Given the description of an element on the screen output the (x, y) to click on. 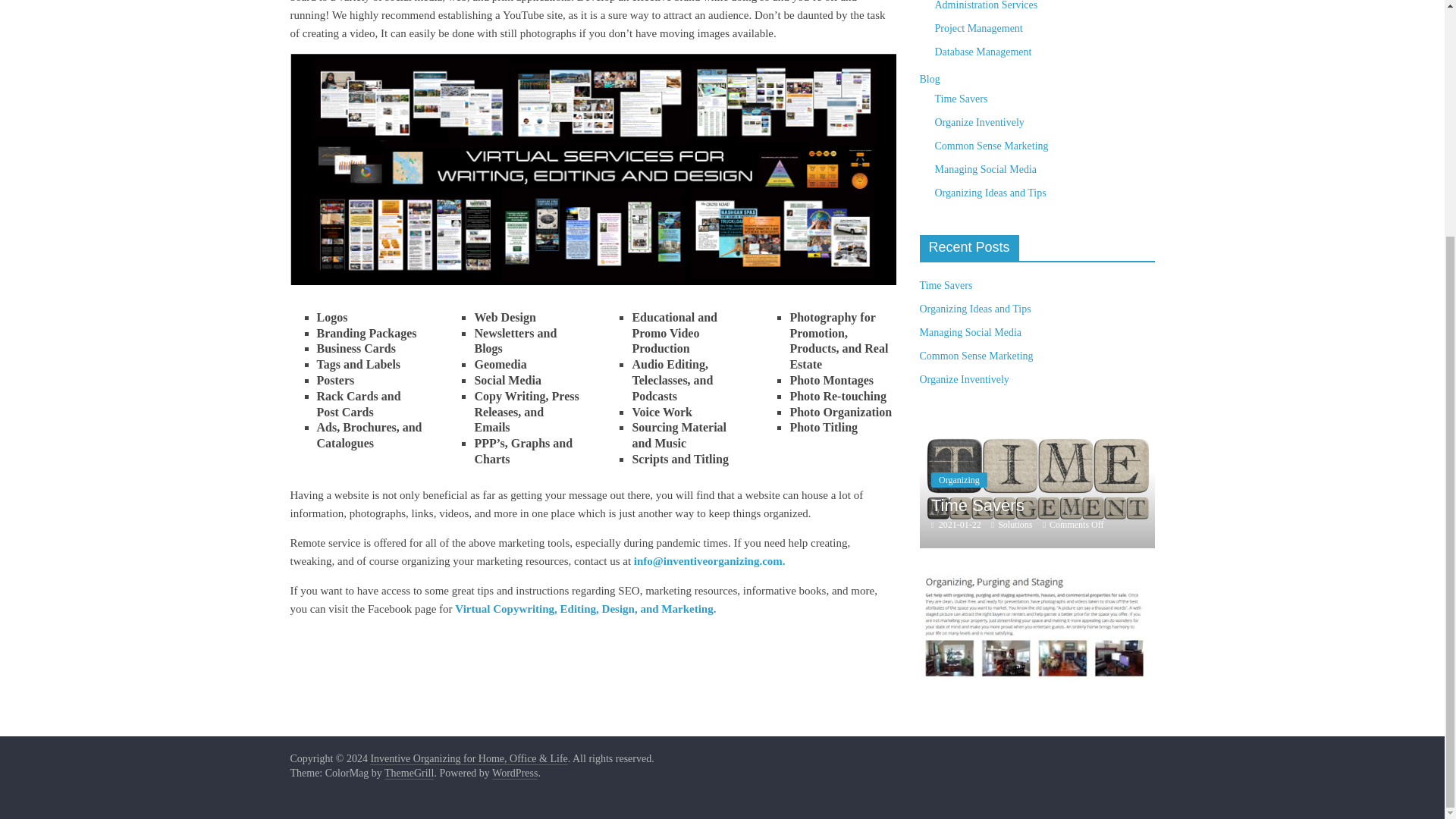
Common Sense Marketing (991, 145)
Common Sense Marketing (975, 355)
Managing Social Media (985, 169)
Time Savers (945, 285)
Time Savers (1036, 425)
Managing Social Media (970, 332)
Time Savers (978, 505)
Organizing Ideas and Tips (974, 308)
Common Sense Marketing (801, 457)
Organize Inventively (963, 378)
